Given the description of an element on the screen output the (x, y) to click on. 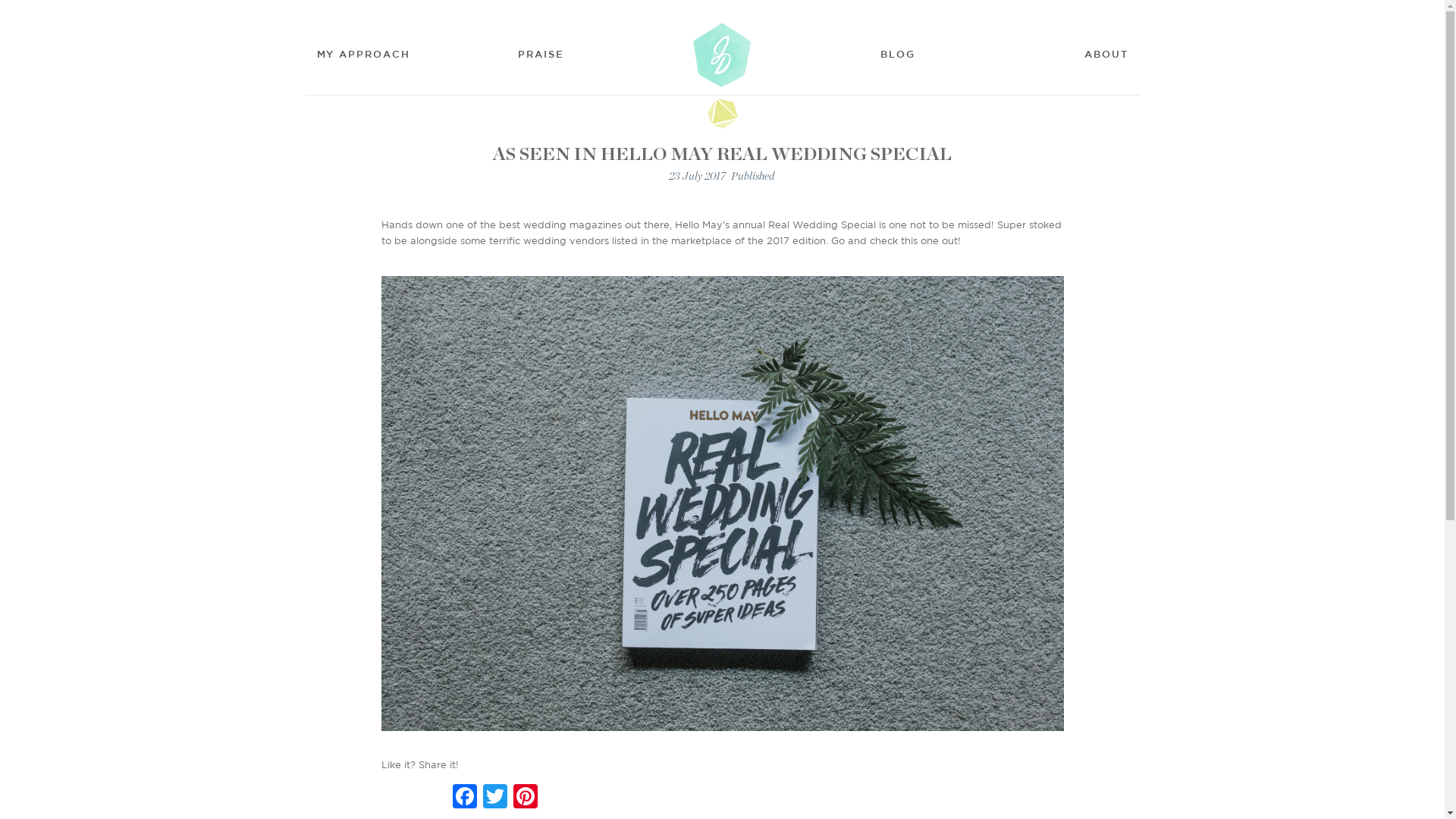
Published Element type: text (752, 176)
Twitter Element type: text (494, 797)
Leave a note Element type: text (32, 12)
Facebook Element type: text (463, 797)
23 July 2017 Element type: text (696, 176)
MY APPROACH Element type: text (366, 54)
BLOG Element type: text (897, 54)
Pinterest Element type: text (524, 797)
PRAISE Element type: text (540, 54)
ABOUT Element type: text (1102, 54)
